Given the description of an element on the screen output the (x, y) to click on. 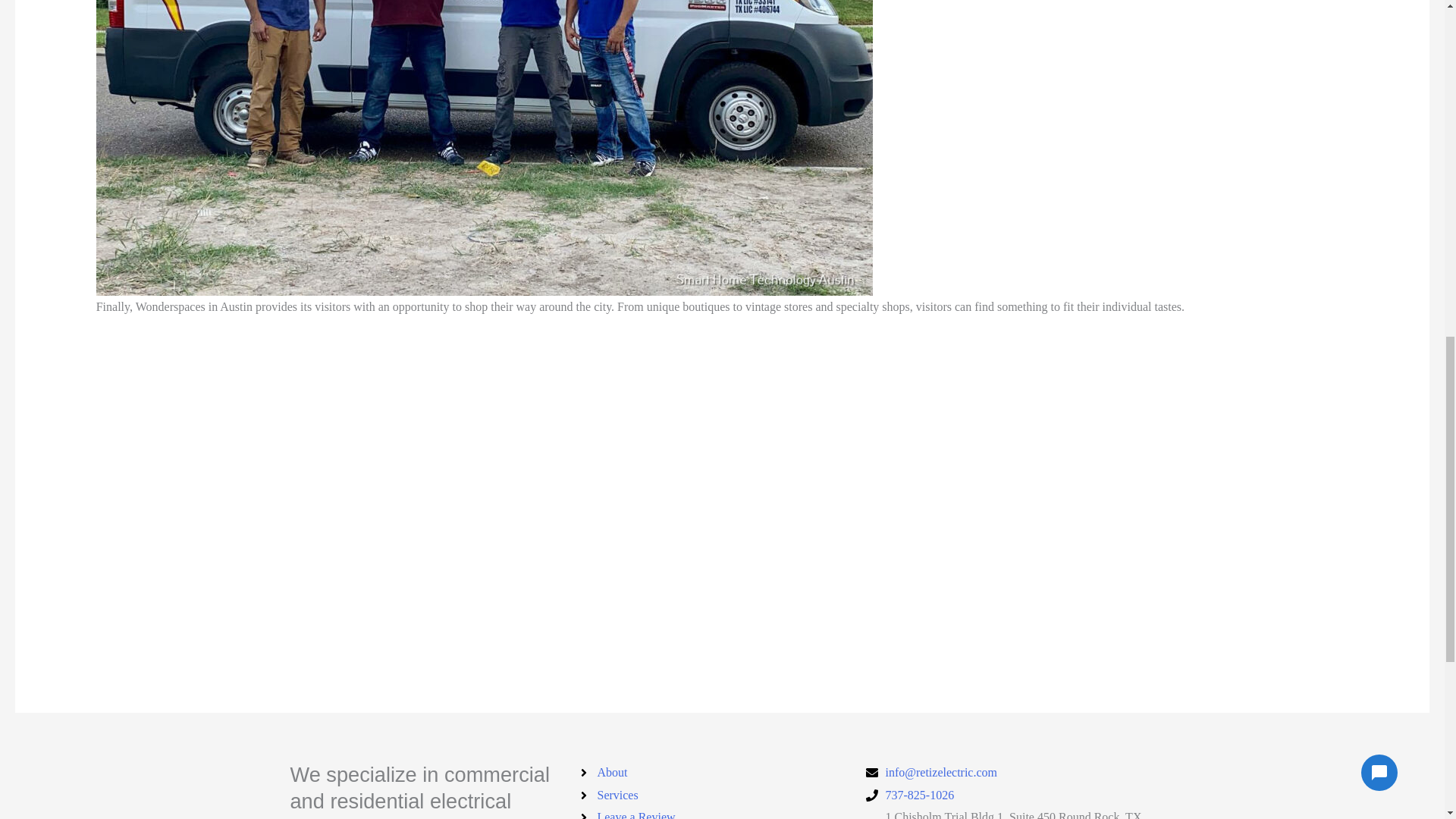
Leave a Review (722, 812)
737-825-1026 (1010, 794)
Services (722, 794)
About (722, 772)
